Given the description of an element on the screen output the (x, y) to click on. 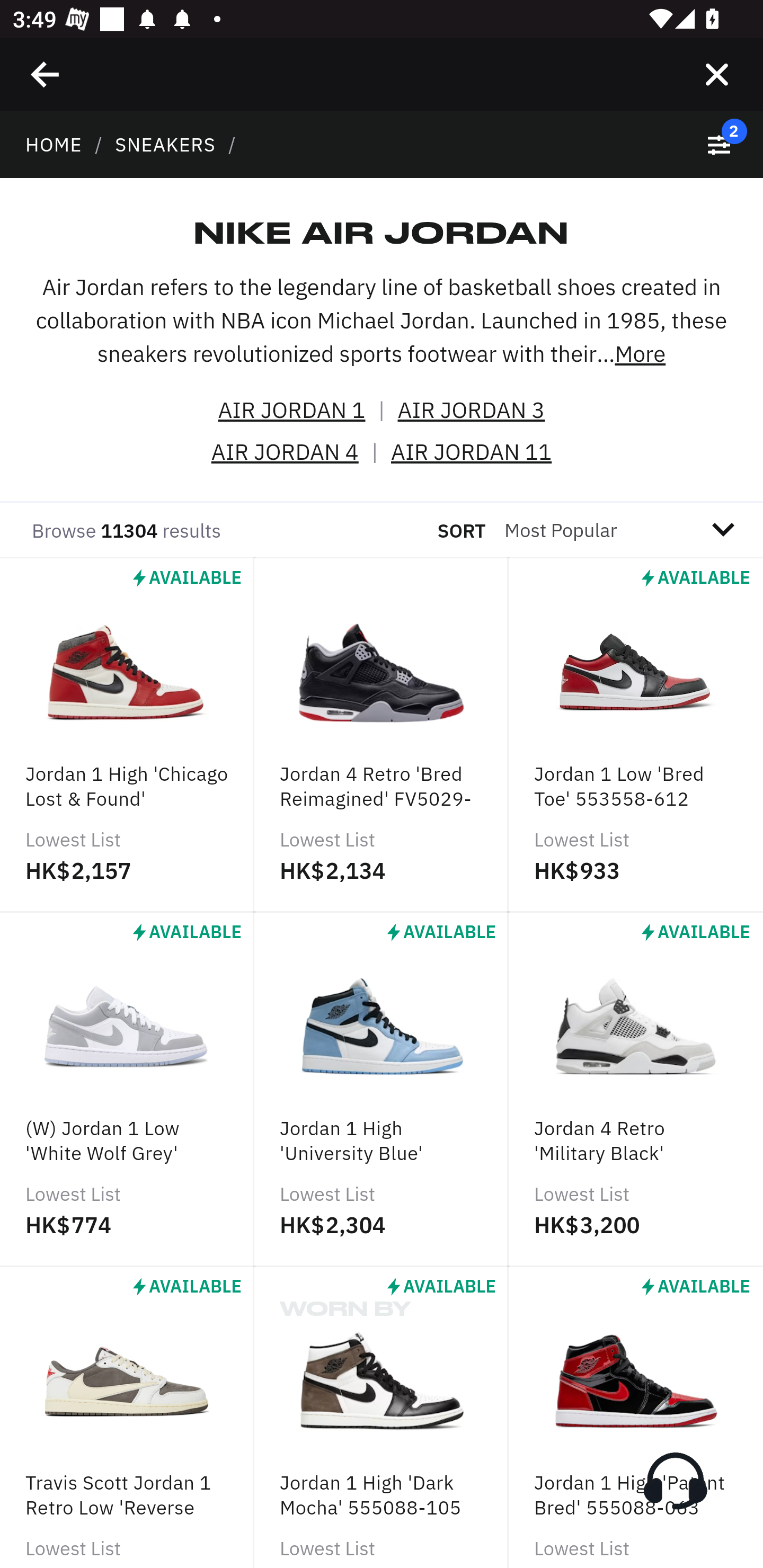
 (46, 74)
 (716, 74)
2 (725, 144)
HOME (53, 144)
SNEAKERS (164, 144)
More (639, 353)
AIR JORDAN 1 (291, 410)
AIR JORDAN 3 (471, 410)
AIR JORDAN 4 (284, 452)
AIR JORDAN 11 (471, 452)
Most Popular (629, 529)
Nova Your Virtual Assistant! button (674, 1480)
